Given the description of an element on the screen output the (x, y) to click on. 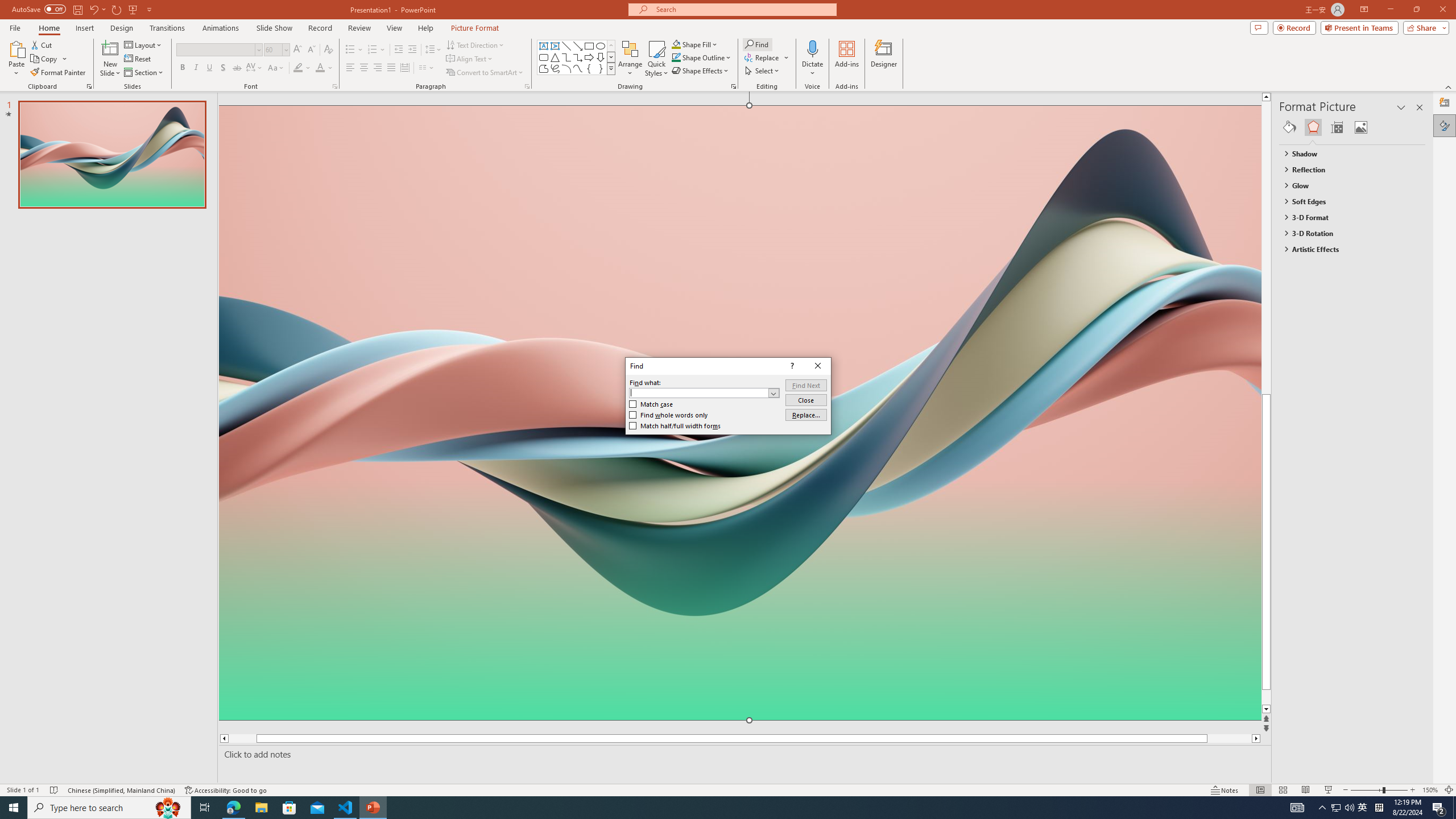
Justify (390, 67)
Slide Notes (742, 754)
Size & Properties (1336, 126)
Reflection (1347, 169)
Select (762, 69)
Clear Formatting (327, 49)
Picture Format (475, 28)
